Given the description of an element on the screen output the (x, y) to click on. 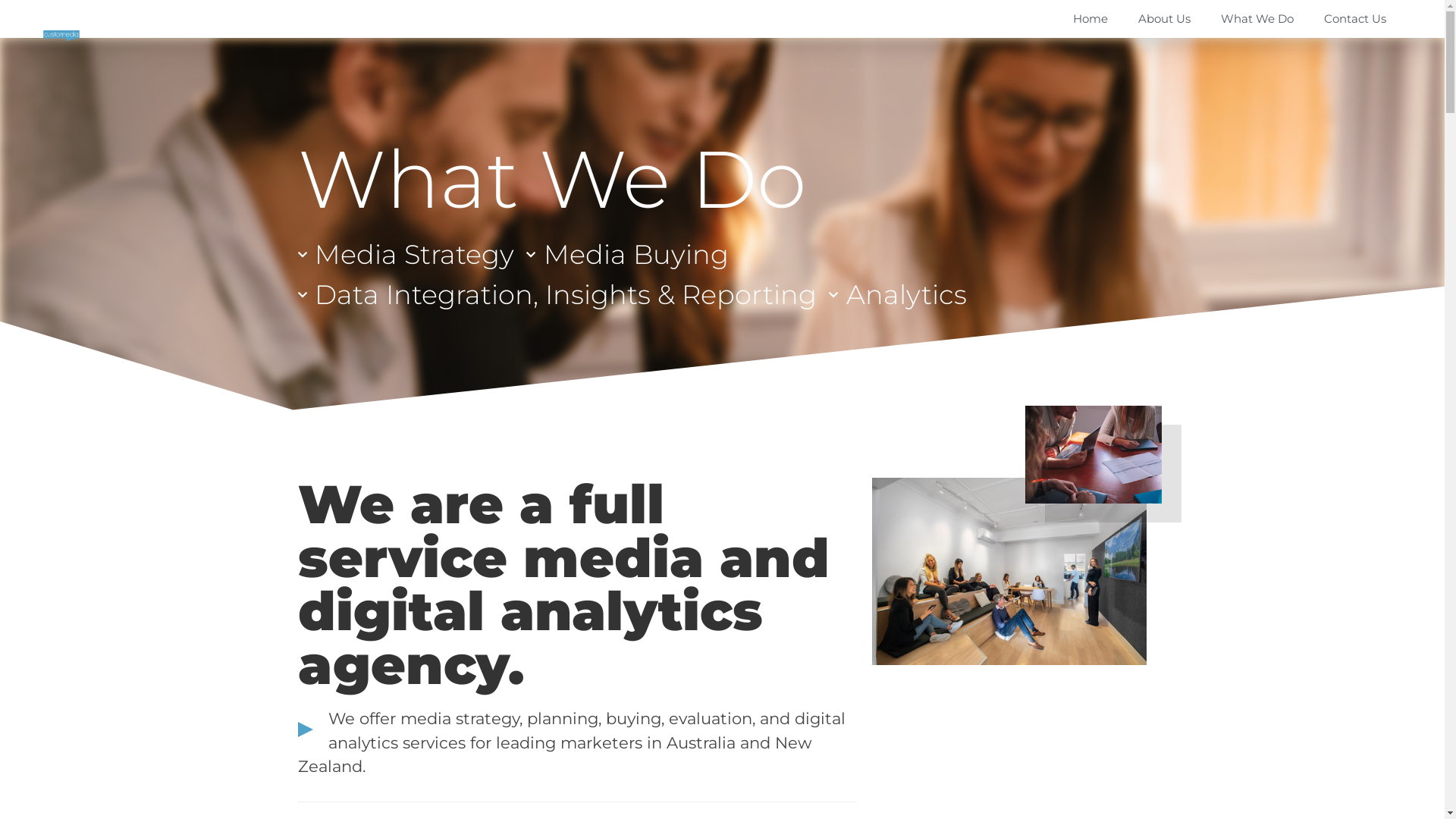
About Us Element type: text (1164, 18)
Analytics Element type: text (897, 295)
Media Buying Element type: text (627, 255)
Media Strategy Element type: text (405, 255)
What We Do Element type: text (1256, 18)
Data Integration, Insights & Reporting Element type: text (556, 295)
Home Element type: text (1090, 18)
Contact Us Element type: text (1354, 18)
